Given the description of an element on the screen output the (x, y) to click on. 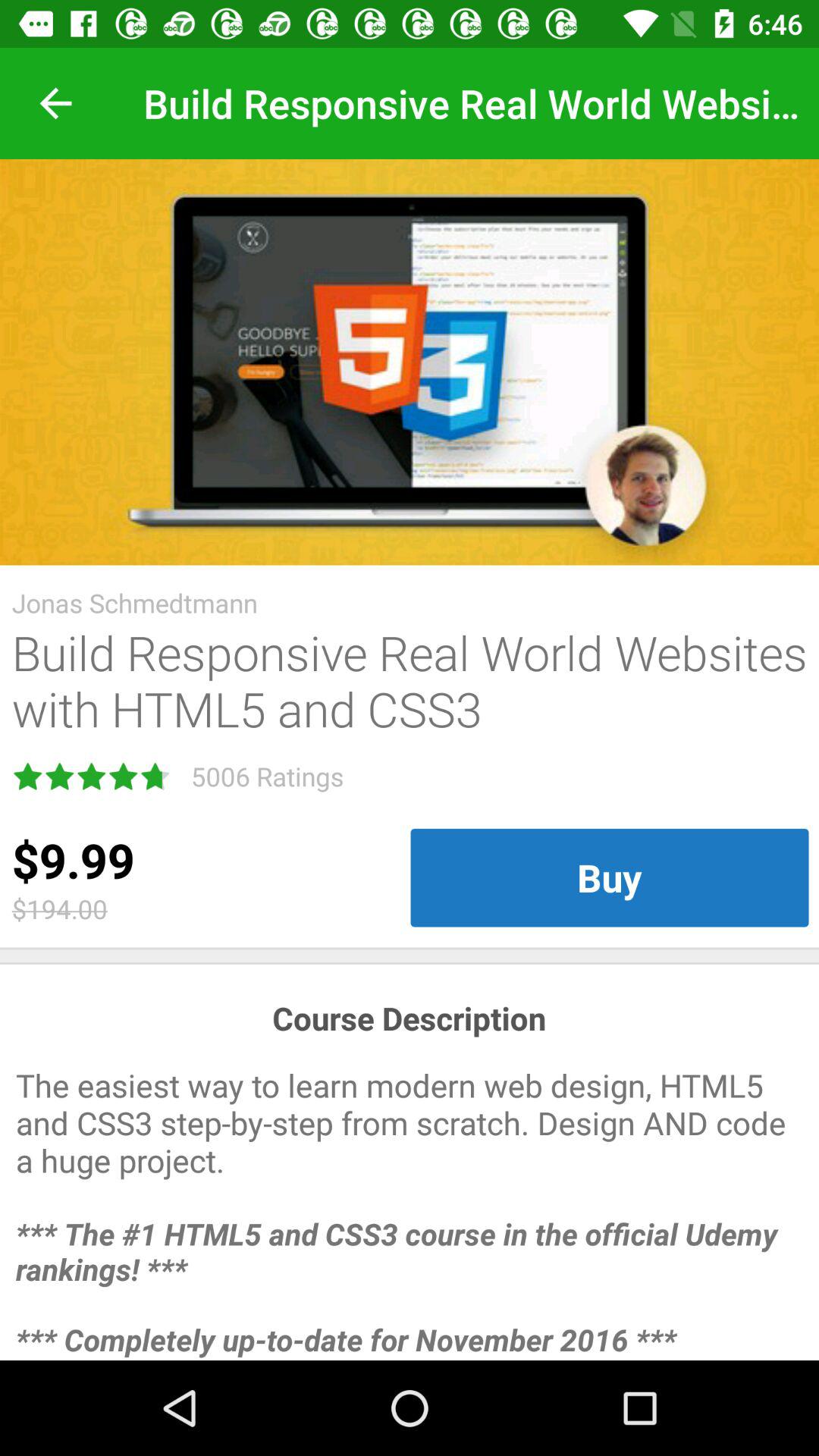
turn on the icon to the left of the build responsive real item (55, 103)
